Given the description of an element on the screen output the (x, y) to click on. 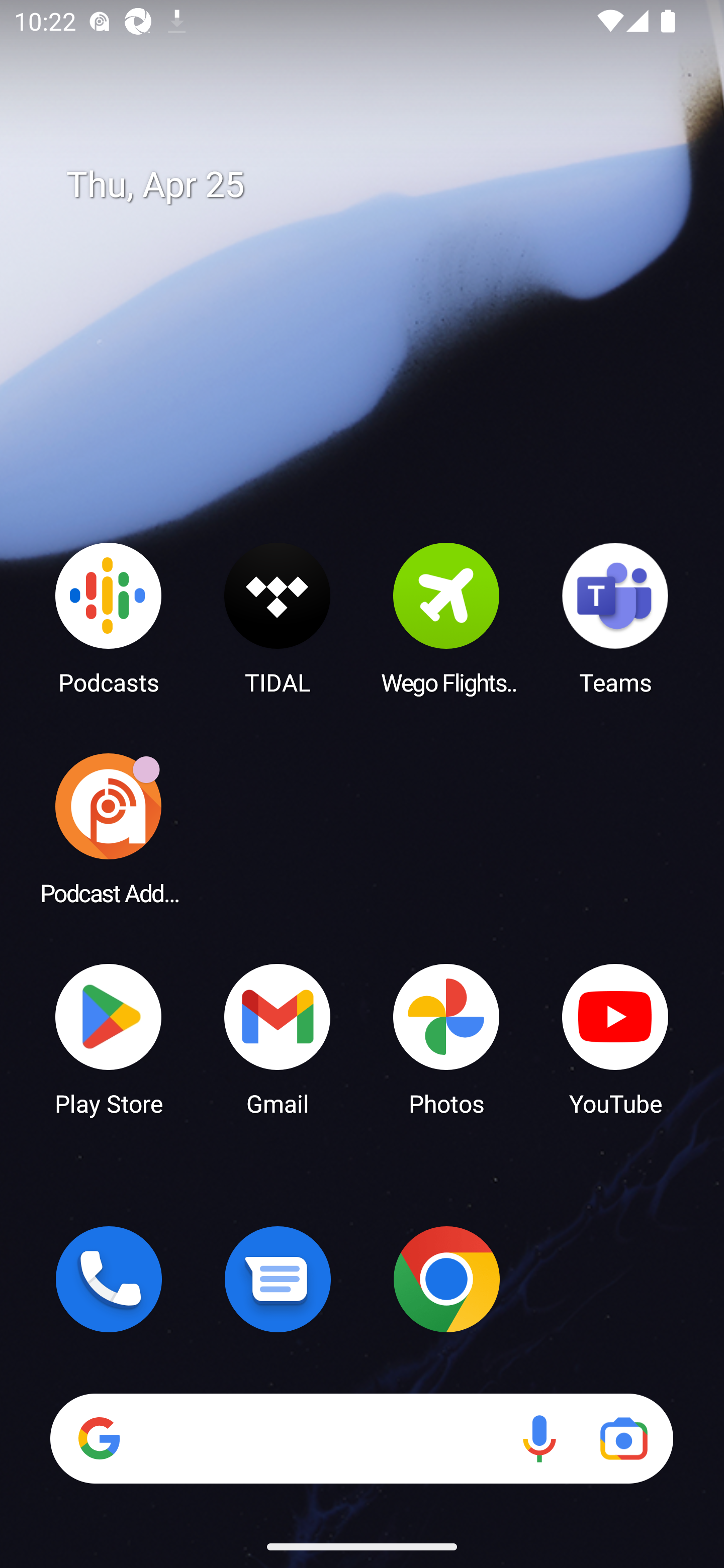
Thu, Apr 25 (375, 184)
Podcasts (108, 617)
TIDAL (277, 617)
Wego Flights & Hotels (445, 617)
Teams (615, 617)
Play Store (108, 1038)
Gmail (277, 1038)
Photos (445, 1038)
YouTube (615, 1038)
Phone (108, 1279)
Messages (277, 1279)
Chrome (446, 1279)
Search Voice search Google Lens (361, 1438)
Voice search (539, 1438)
Google Lens (623, 1438)
